Given the description of an element on the screen output the (x, y) to click on. 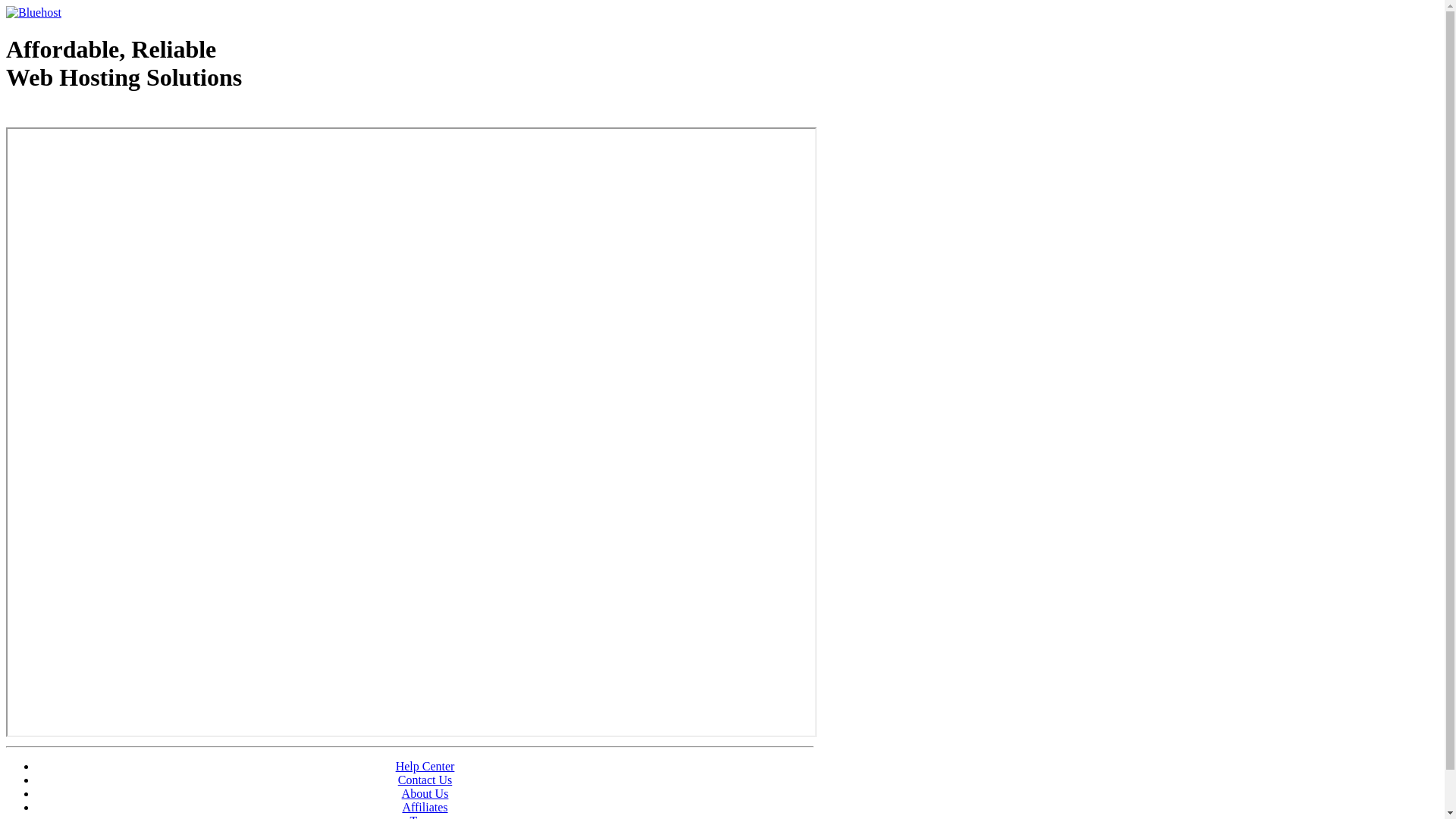
Affiliates Element type: text (424, 806)
Web Hosting - courtesy of www.bluehost.com Element type: text (94, 115)
Contact Us Element type: text (425, 779)
About Us Element type: text (424, 793)
Help Center Element type: text (425, 765)
